Given the description of an element on the screen output the (x, y) to click on. 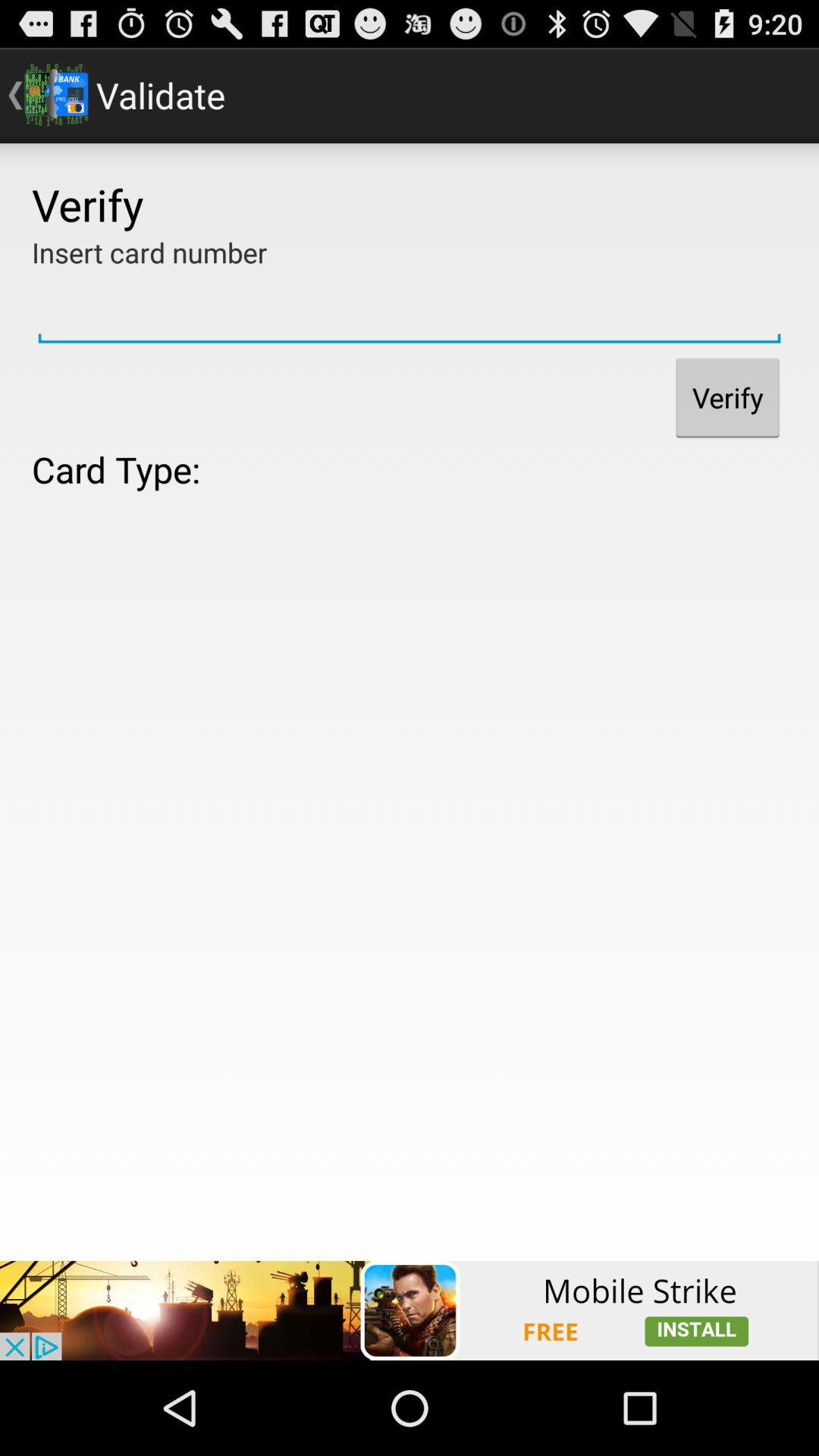
input card number (409, 310)
